Given the description of an element on the screen output the (x, y) to click on. 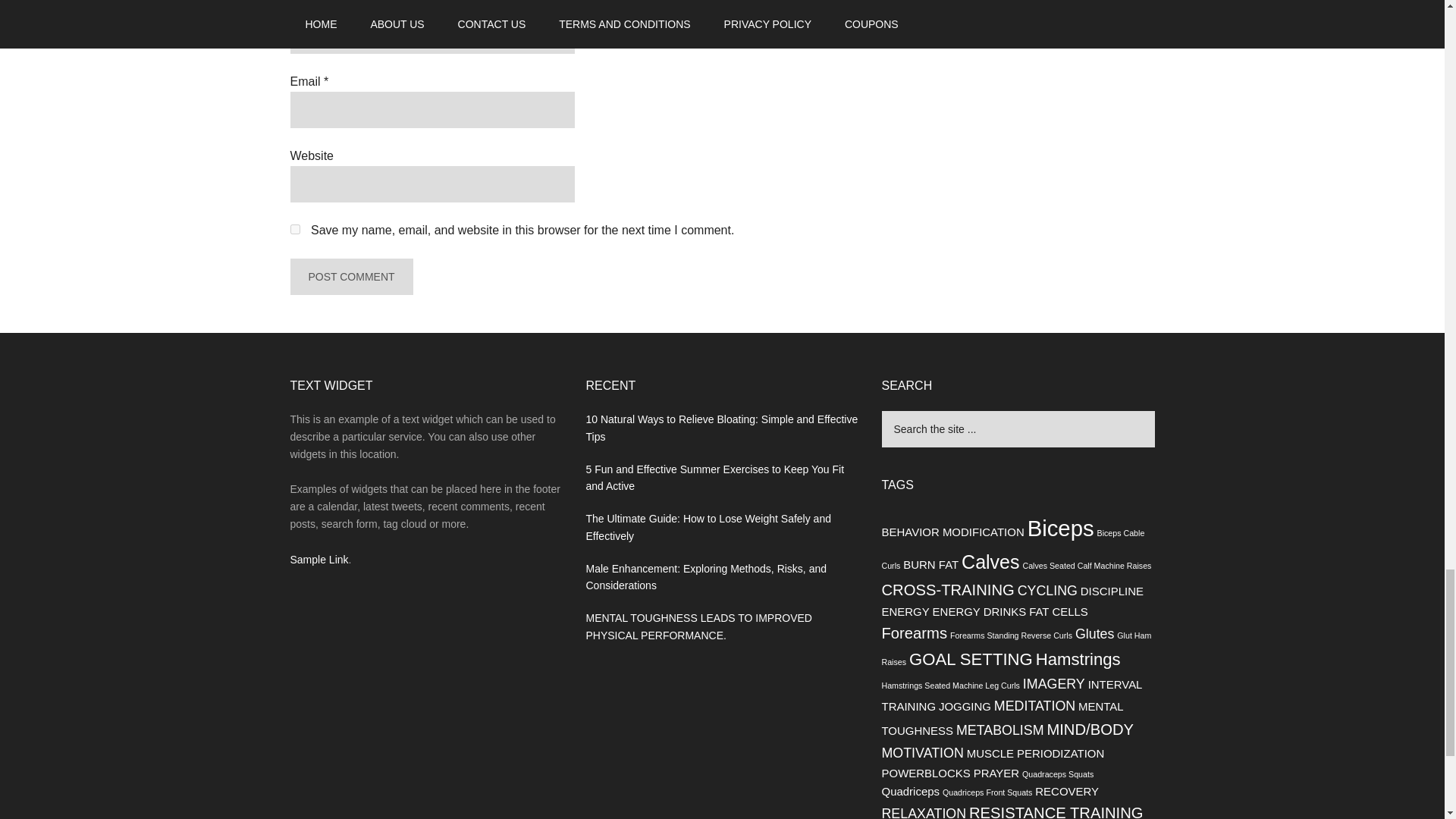
Post Comment (350, 276)
yes (294, 229)
Post Comment (350, 276)
